Given the description of an element on the screen output the (x, y) to click on. 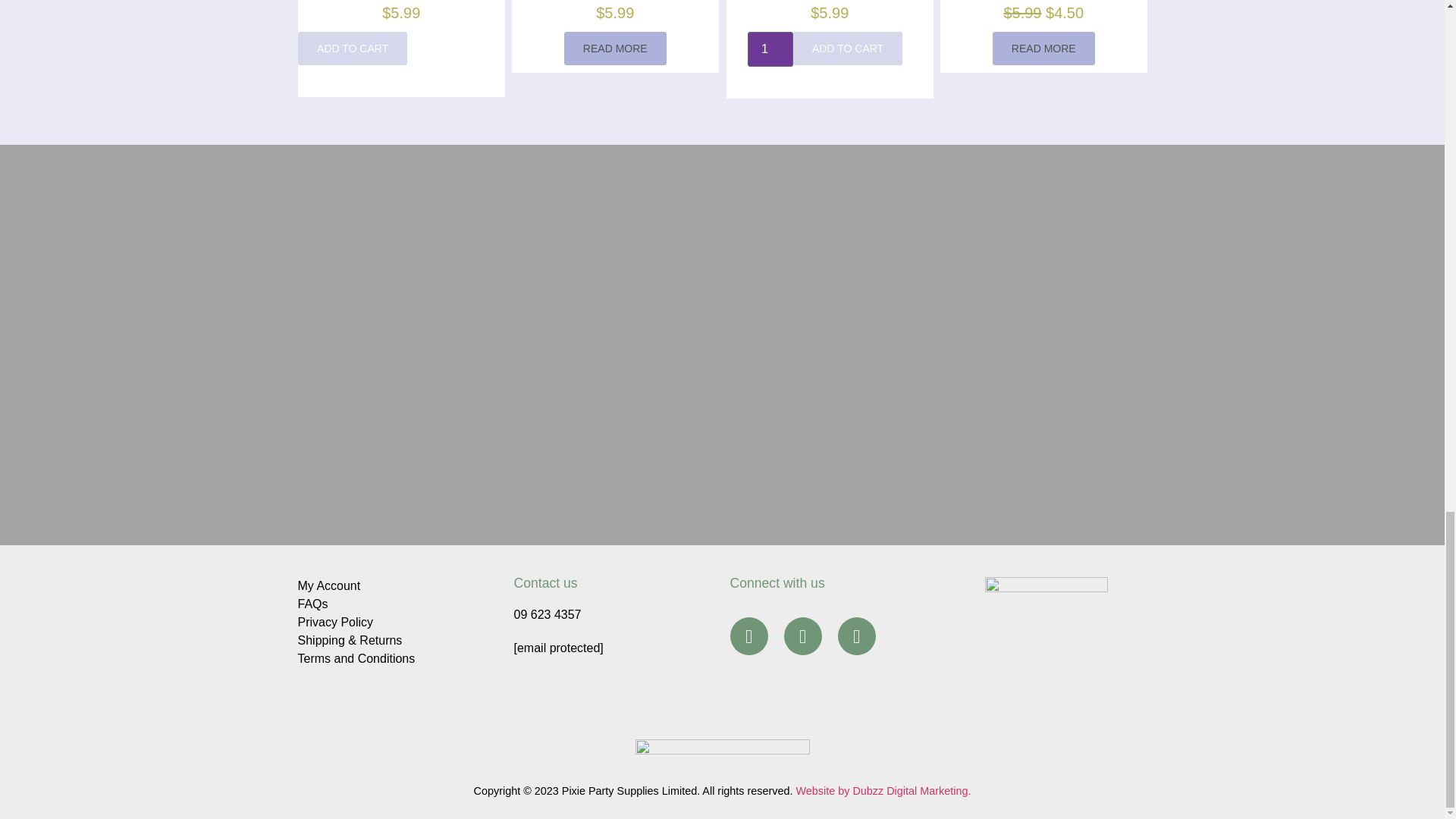
1 (770, 48)
